Given the description of an element on the screen output the (x, y) to click on. 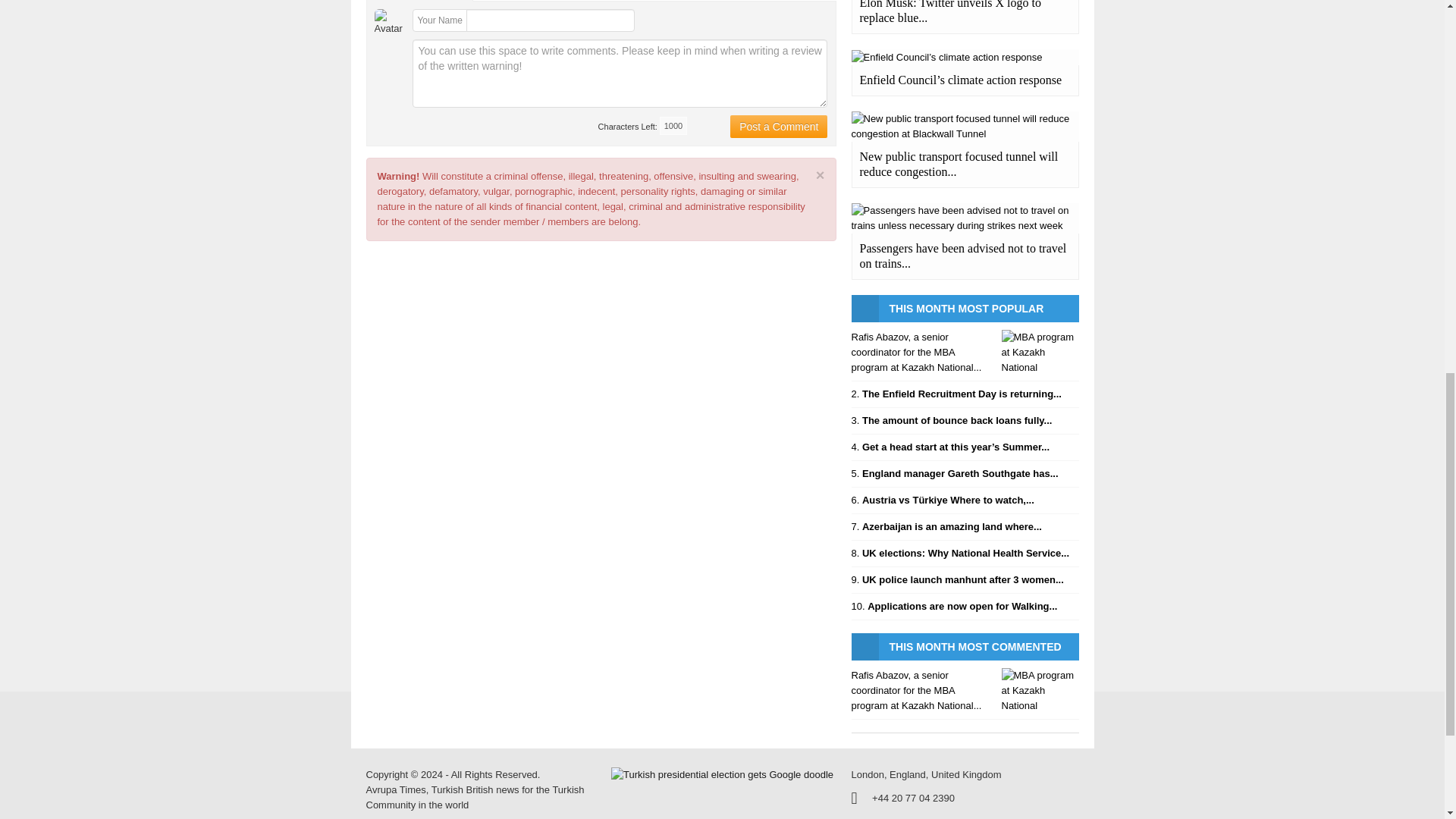
1000 (673, 126)
